Given the description of an element on the screen output the (x, y) to click on. 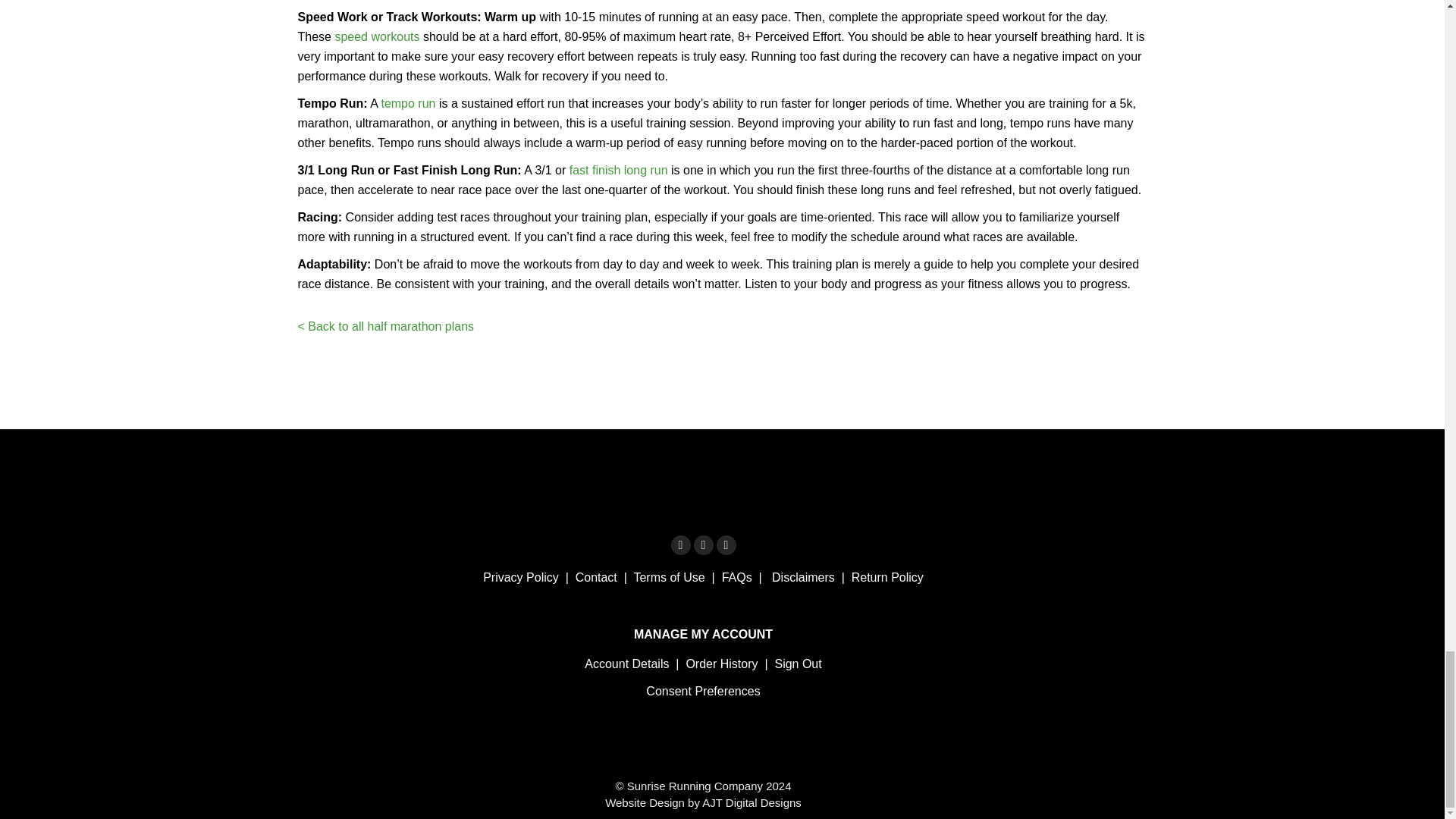
Instagram page opens in new window (703, 545)
Strava page opens in new window (725, 545)
Facebook page opens in new window (679, 545)
